Given the description of an element on the screen output the (x, y) to click on. 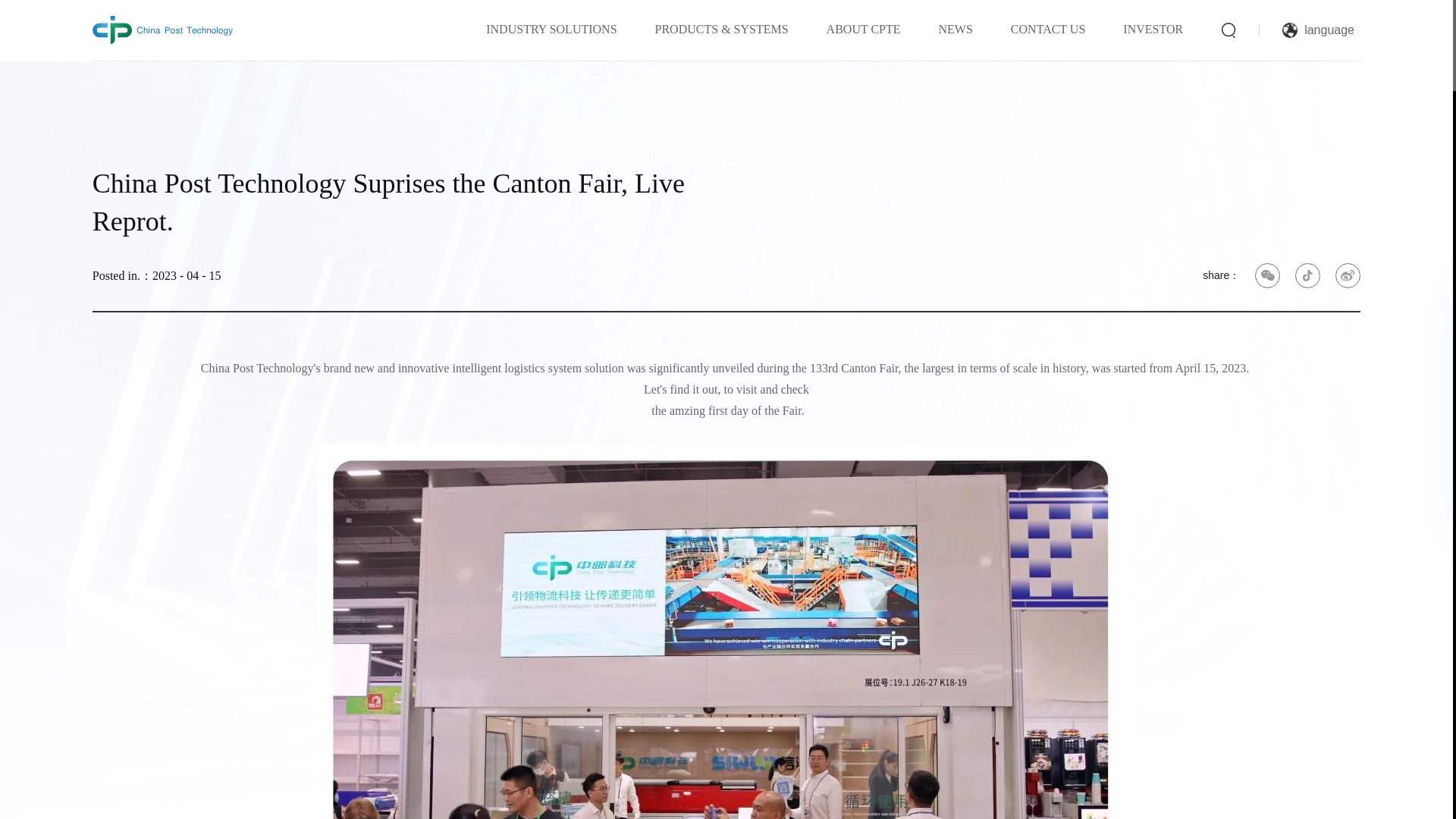
CONTACT US (1047, 29)
INDUSTRY SOLUTIONS (550, 29)
INVESTOR (1152, 29)
ABOUT CPTE (864, 29)
